Given the description of an element on the screen output the (x, y) to click on. 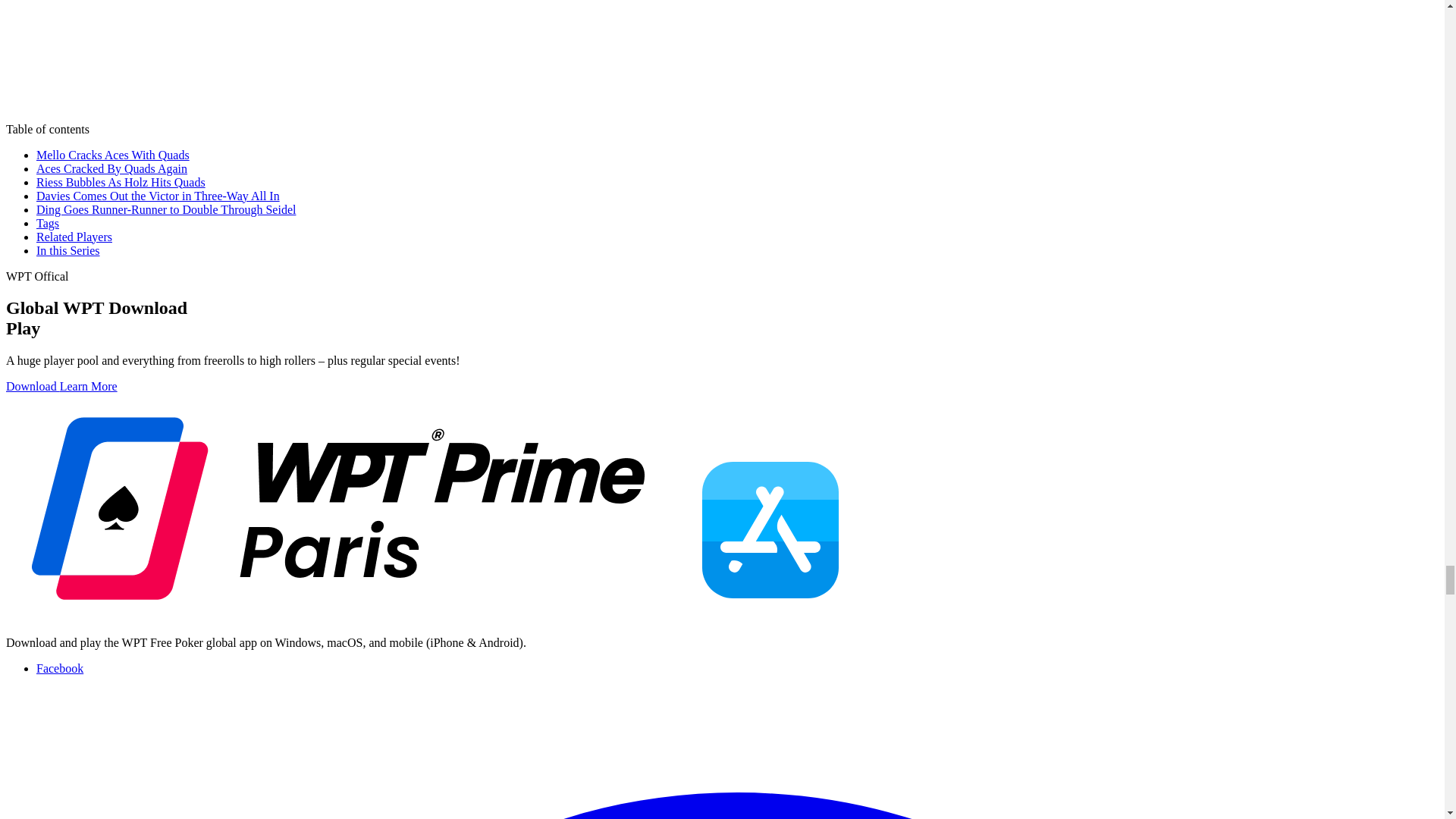
Riess Bubbles As Holz Hits Quads (120, 182)
In this Series (68, 250)
Davies Comes Out the Victor in Three-Way All In (157, 195)
Download (32, 386)
Aces Cracked By Quads Again (111, 168)
Related Players (74, 236)
Tags (47, 223)
Mello Cracks Aces With Quads (112, 154)
Ding Goes Runner-Runner to Double Through Seidel (165, 209)
